Given the description of an element on the screen output the (x, y) to click on. 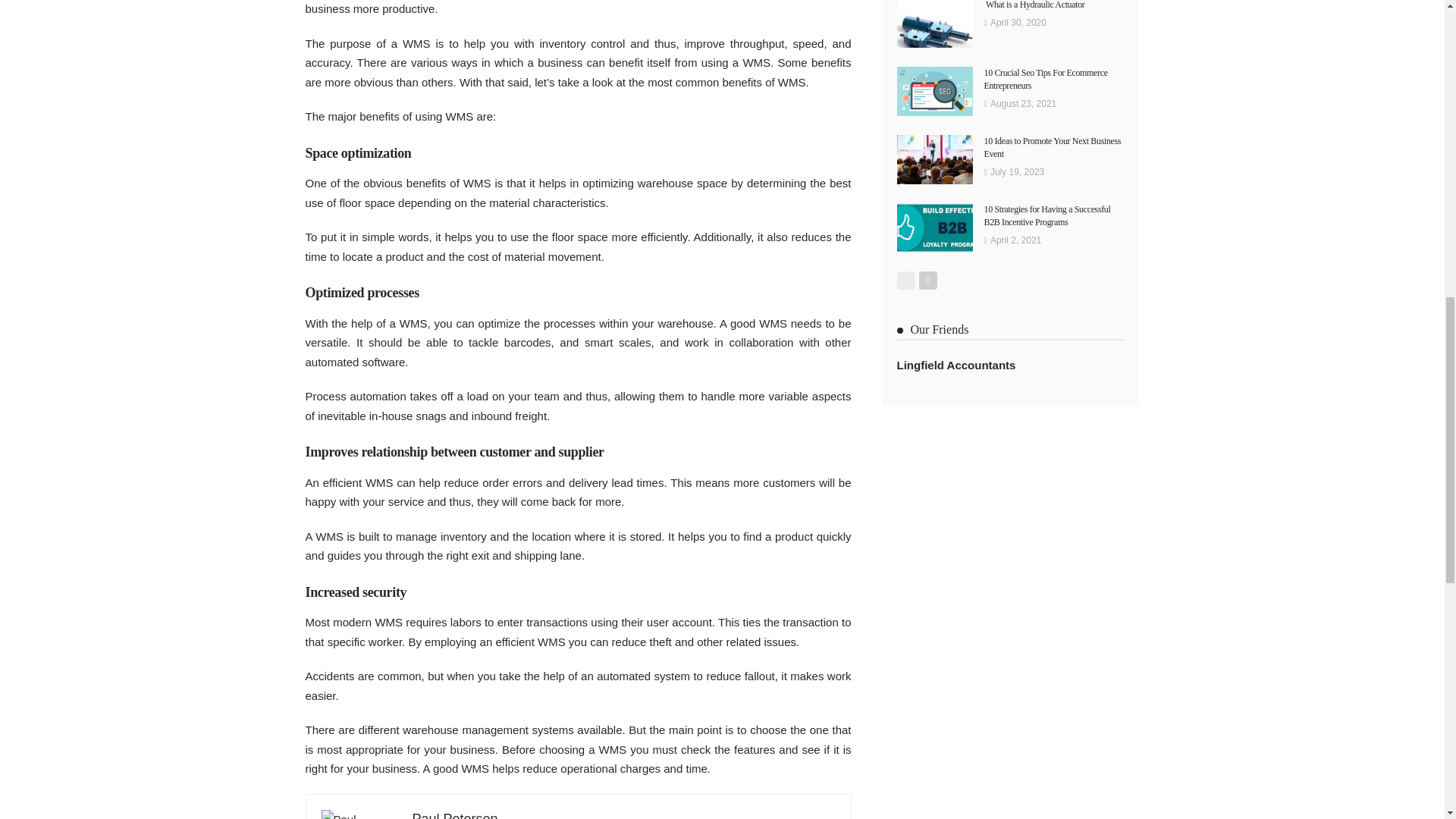
Paul Petersen (454, 815)
10 Crucial Seo Tips For Ecommerce Entrepreneurs (1046, 78)
10 Ideas to Promote Your Next Business Event (934, 159)
10 Crucial Seo Tips For Ecommerce Entrepreneurs (934, 91)
10 Ideas to Promote Your Next Business Event (1052, 146)
